Given the description of an element on the screen output the (x, y) to click on. 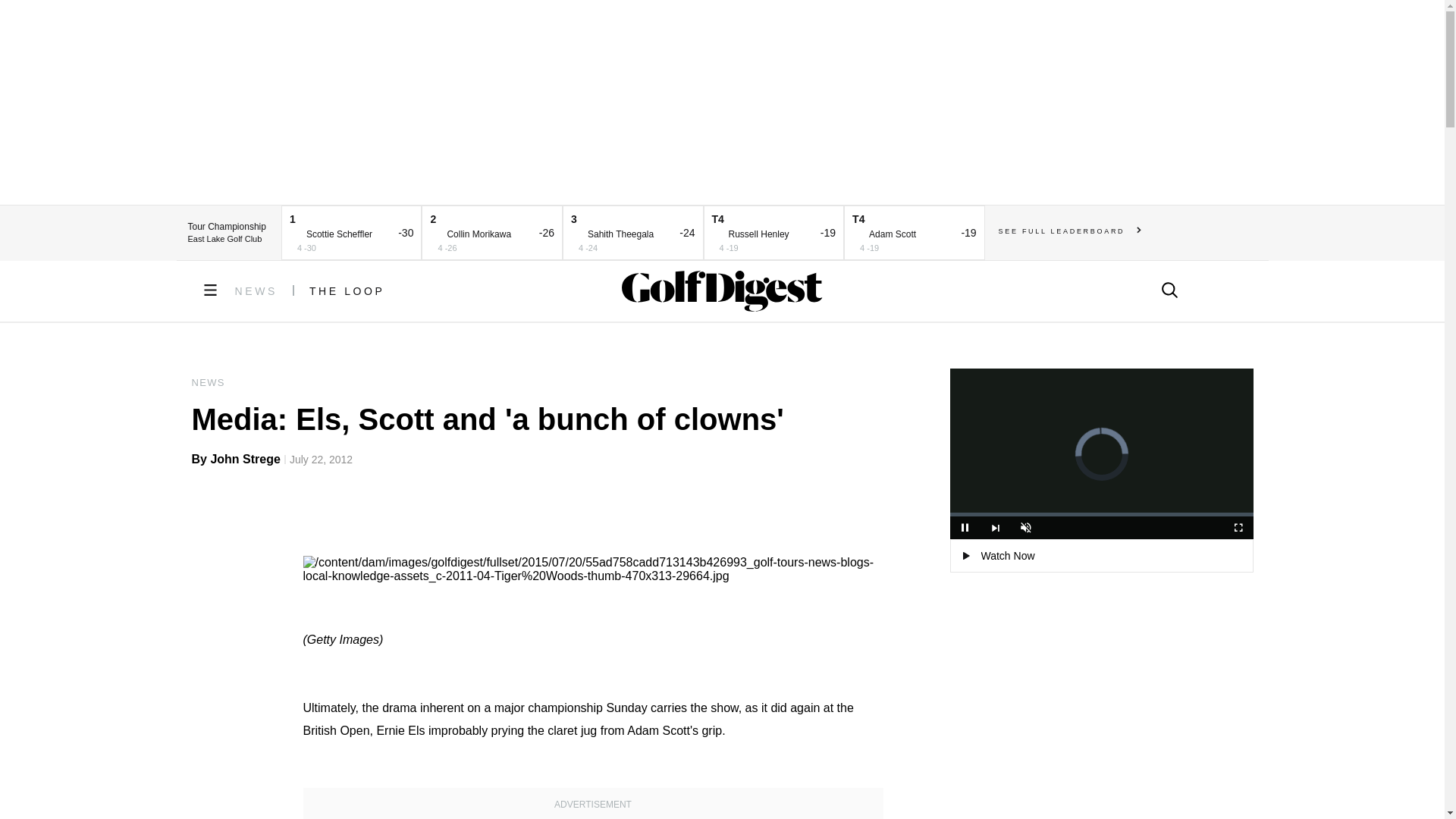
Next playlist item (994, 527)
SEE FULL LEADERBOARD (1069, 230)
Pause (964, 527)
THE LOOP (346, 291)
NEWS (256, 291)
Unmute (1025, 527)
